Given the description of an element on the screen output the (x, y) to click on. 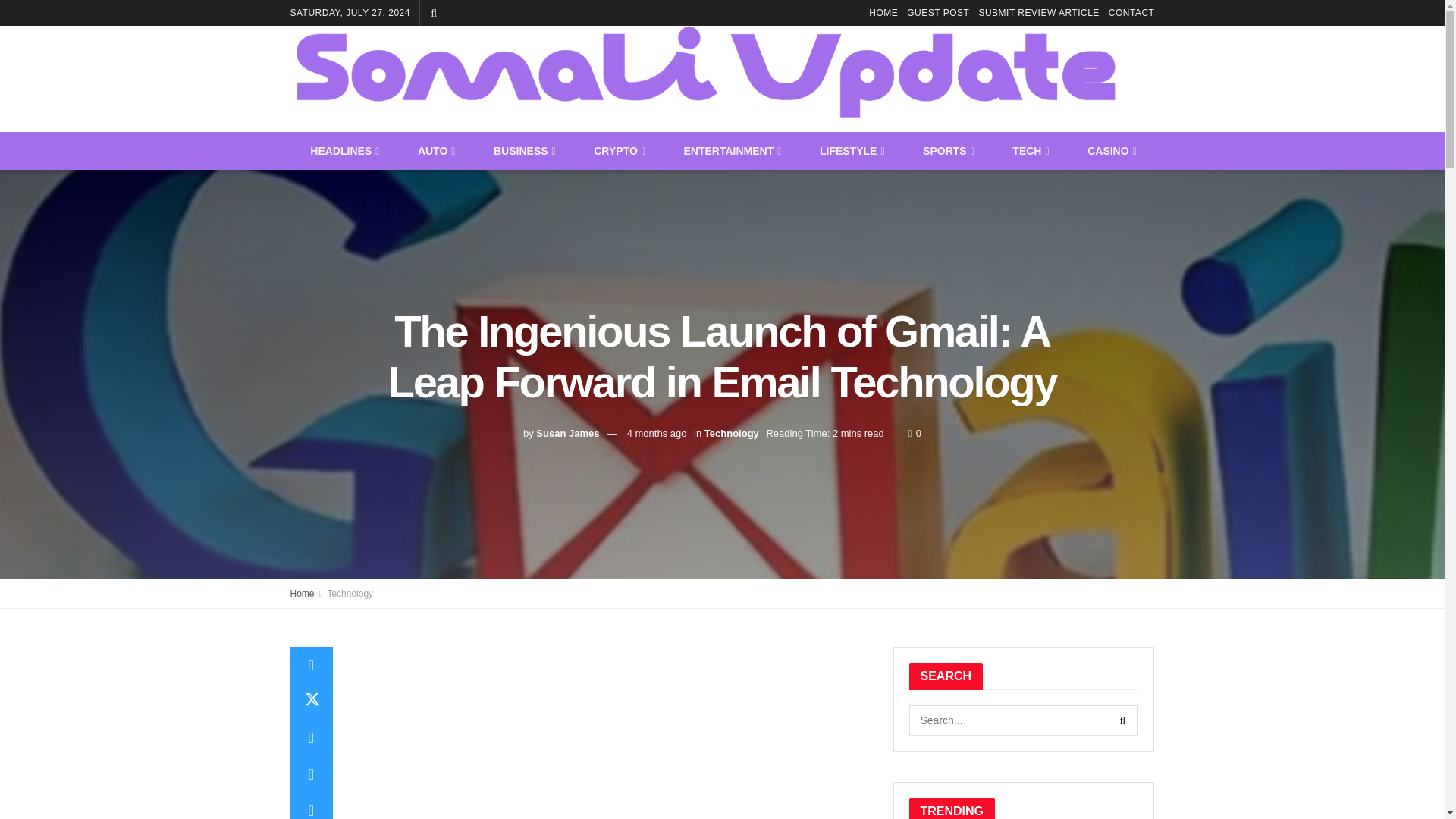
SPORTS (946, 150)
SUBMIT REVIEW ARTICLE (1038, 12)
ENTERTAINMENT (731, 150)
GUEST POST (938, 12)
BUSINESS (523, 150)
HEADLINES (343, 150)
CRYPTO (617, 150)
HOME (883, 12)
Advertisement (608, 733)
AUTO (435, 150)
LIFESTYLE (850, 150)
CONTACT (1131, 12)
